Given the description of an element on the screen output the (x, y) to click on. 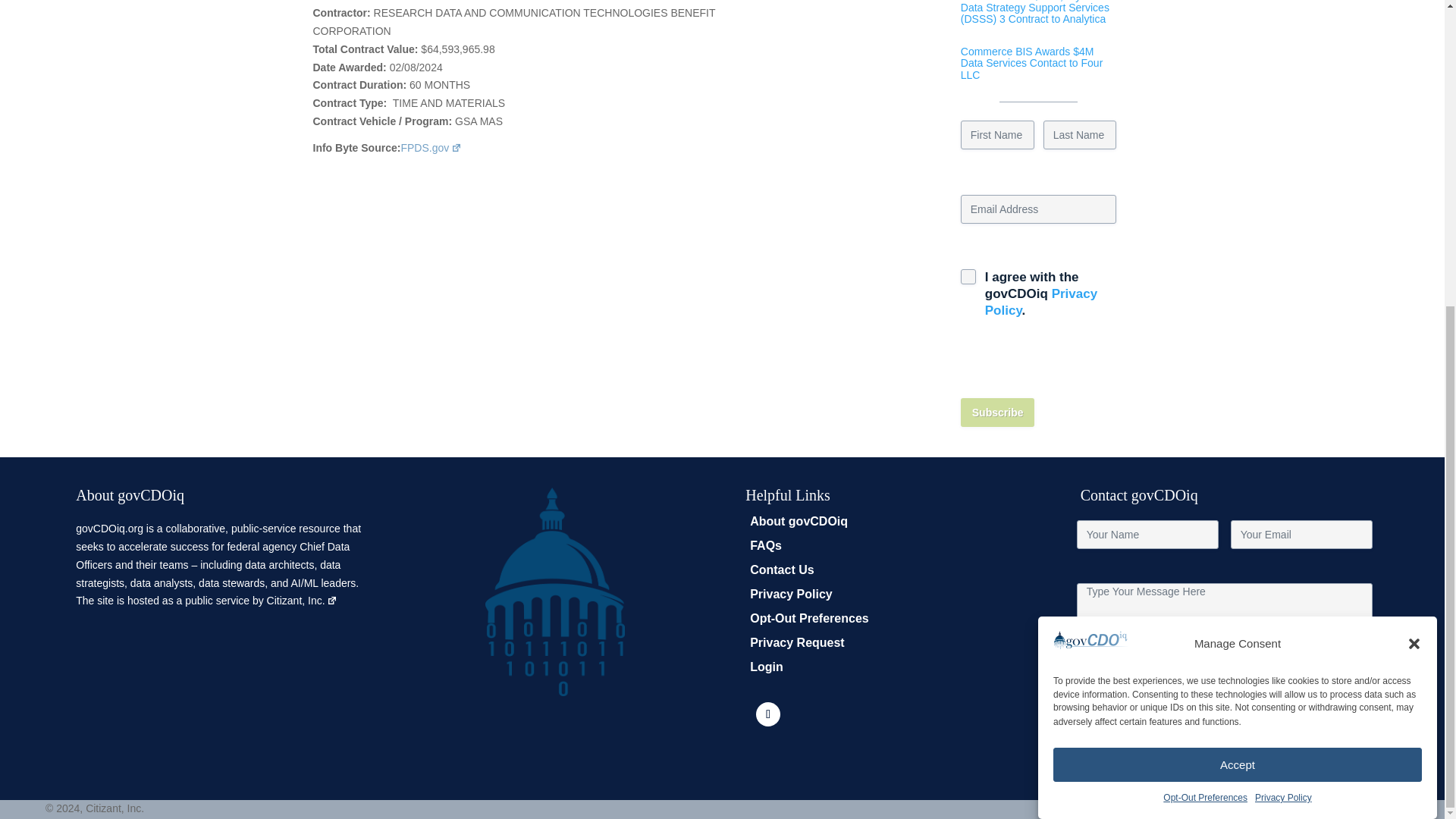
Opt-Out Preferences (1205, 412)
Send (1101, 744)
Follow on LinkedIn (767, 713)
Subscribe (997, 412)
